Given the description of an element on the screen output the (x, y) to click on. 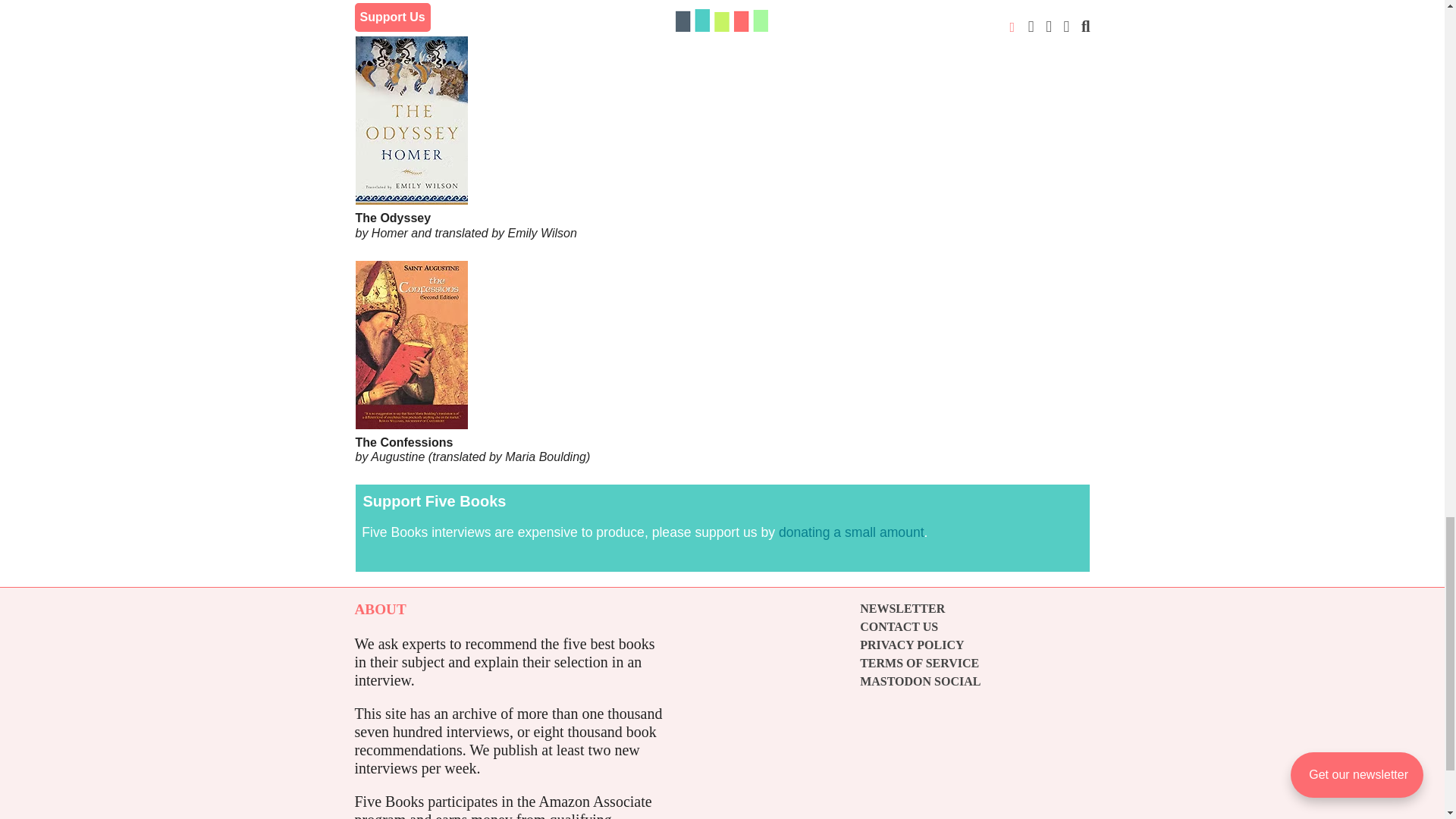
The Confessions (722, 402)
Nineteen Eighty-Four (722, 6)
The Odyssey (722, 177)
